Given the description of an element on the screen output the (x, y) to click on. 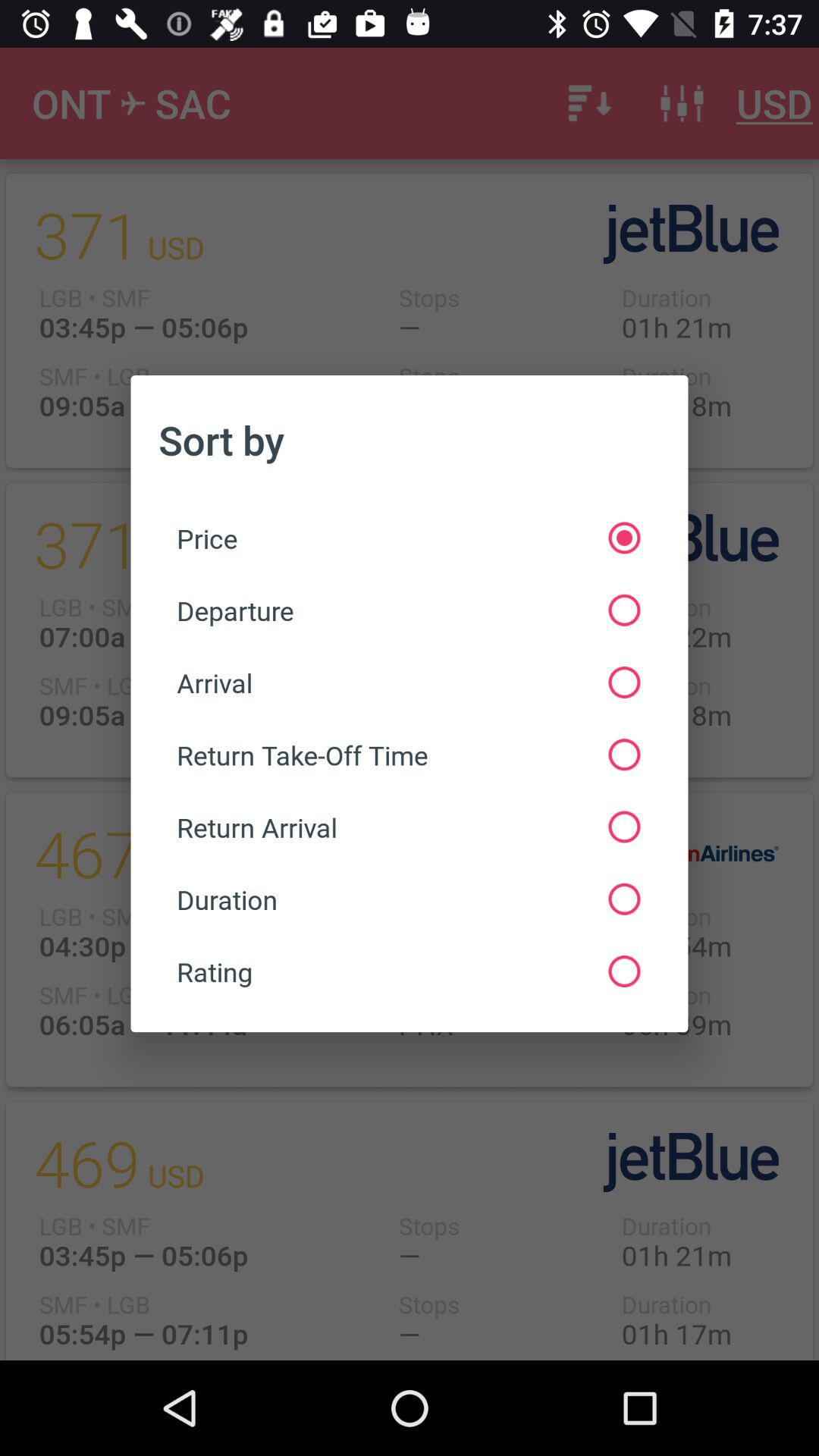
click the icon below sort by item (408, 538)
